Given the description of an element on the screen output the (x, y) to click on. 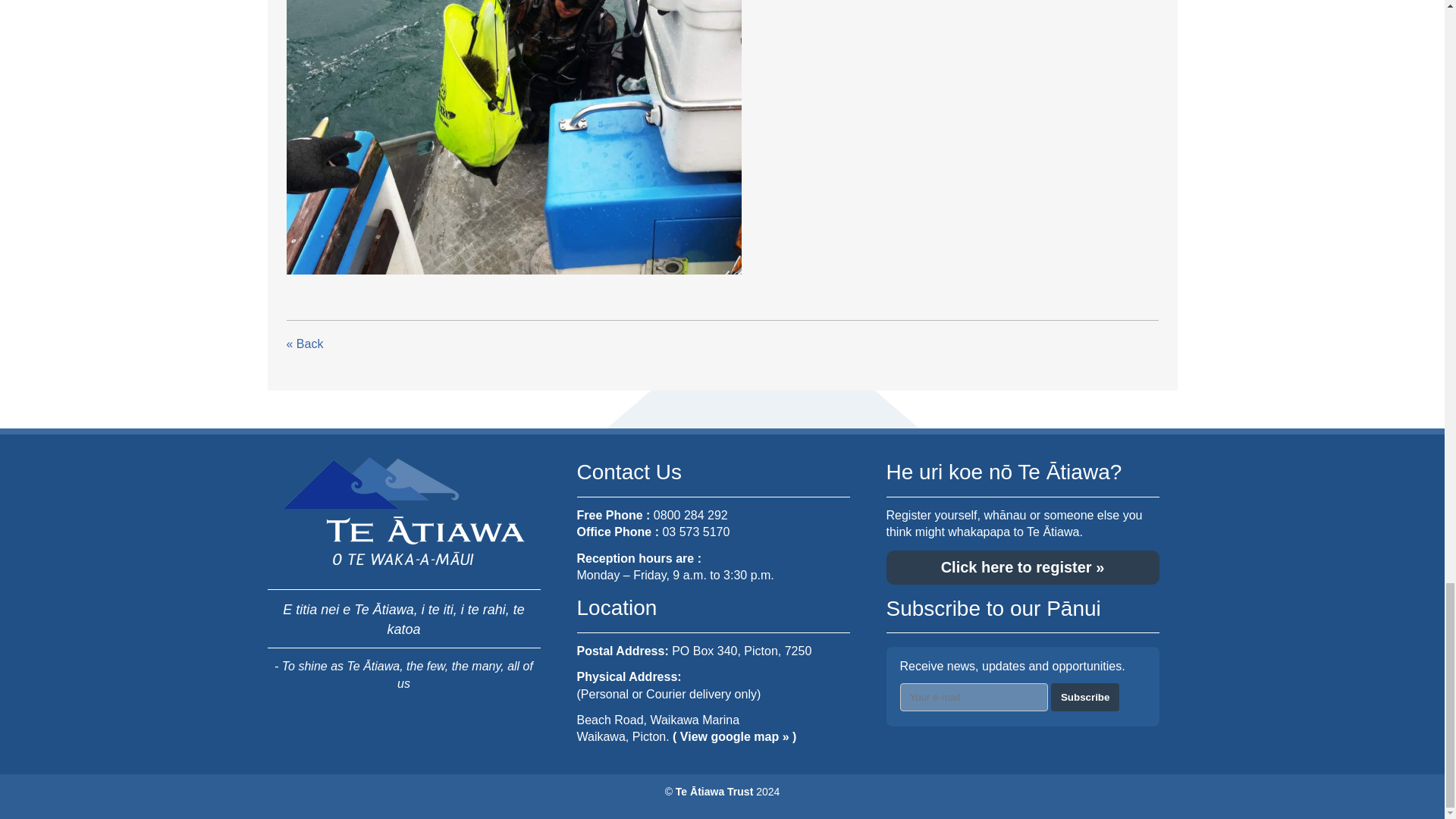
Subscribe (1085, 697)
